Given the description of an element on the screen output the (x, y) to click on. 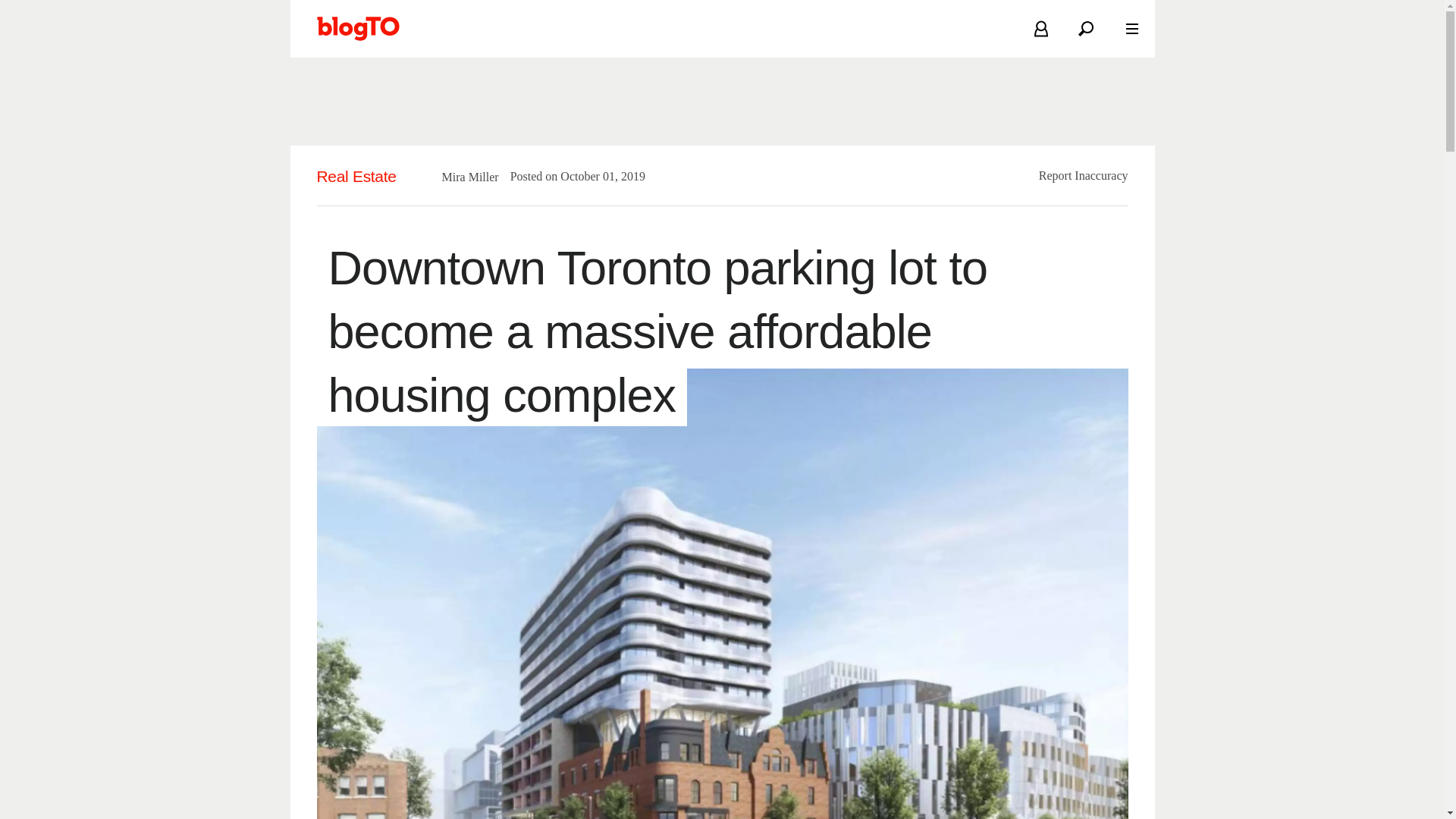
2019-10-01T13:26:37 (594, 175)
